Given the description of an element on the screen output the (x, y) to click on. 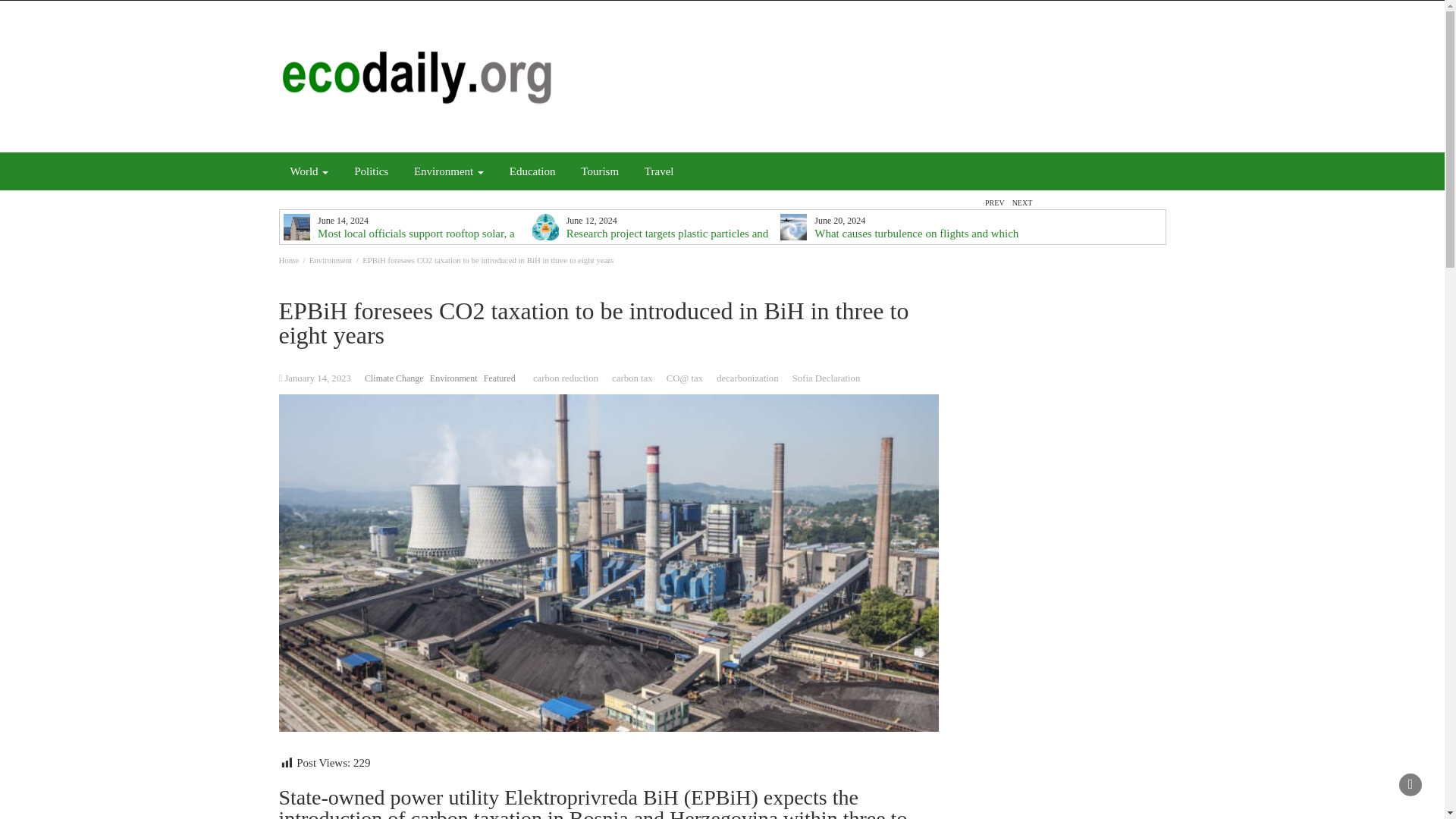
Environment (449, 171)
Travel (659, 171)
Tourism (599, 171)
Education (532, 171)
Home (288, 259)
Environment (449, 171)
Education (532, 171)
Politics (370, 171)
Environment (330, 259)
Politics (370, 171)
Travel (659, 171)
Tourism (599, 171)
